Given the description of an element on the screen output the (x, y) to click on. 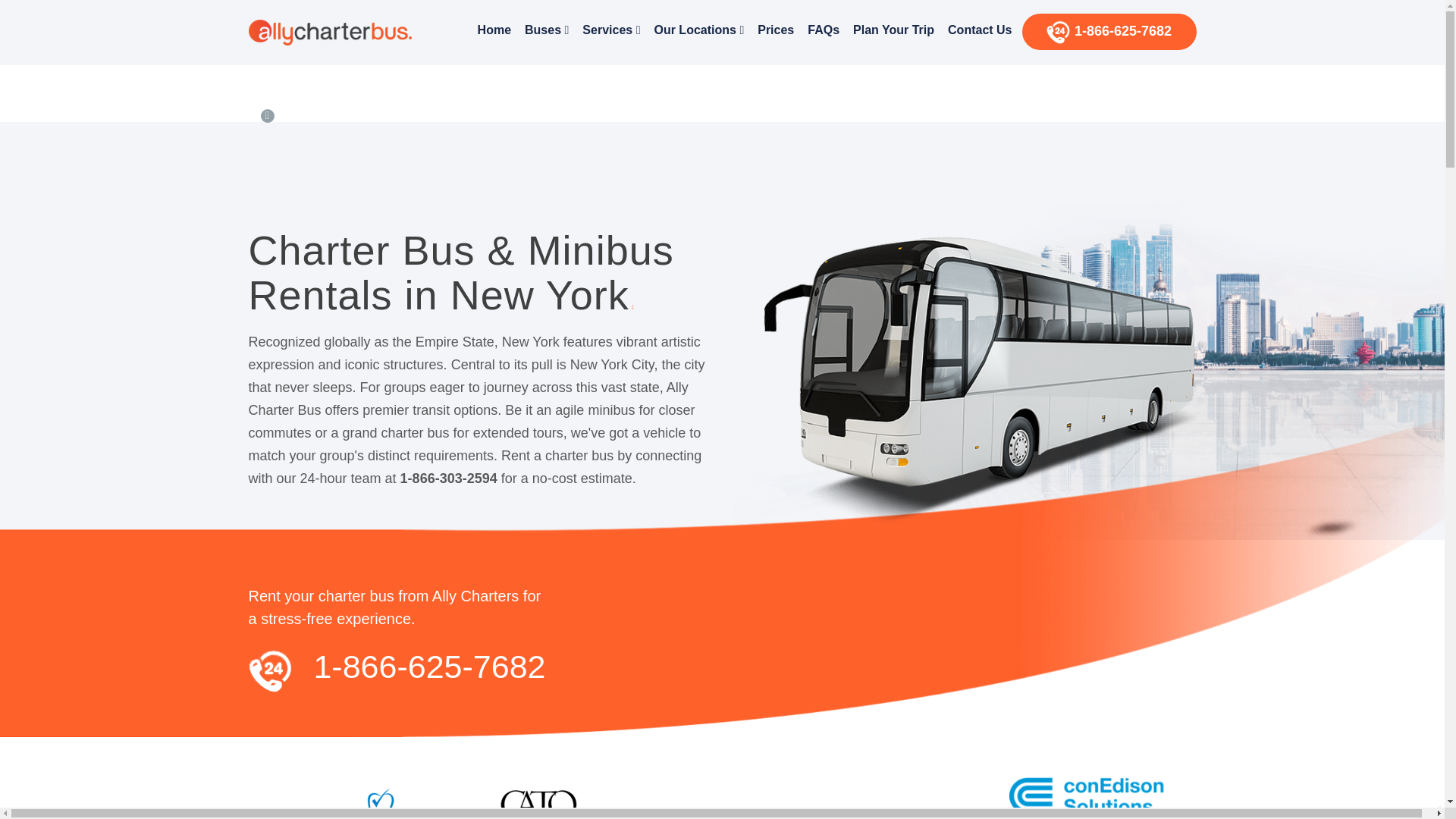
Our Locations (698, 30)
Buses (546, 30)
Services (610, 30)
Home (494, 30)
